Given the description of an element on the screen output the (x, y) to click on. 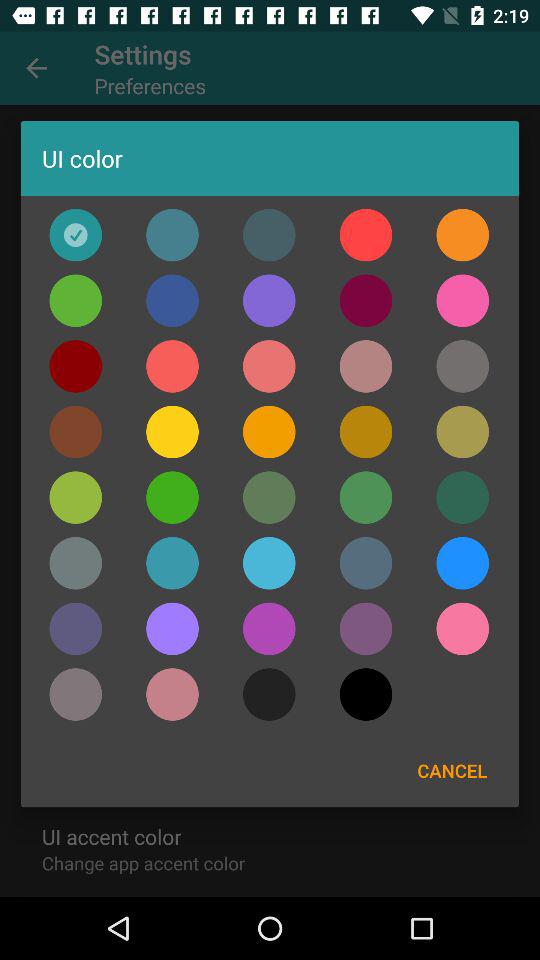
ui color option button (462, 431)
